Given the description of an element on the screen output the (x, y) to click on. 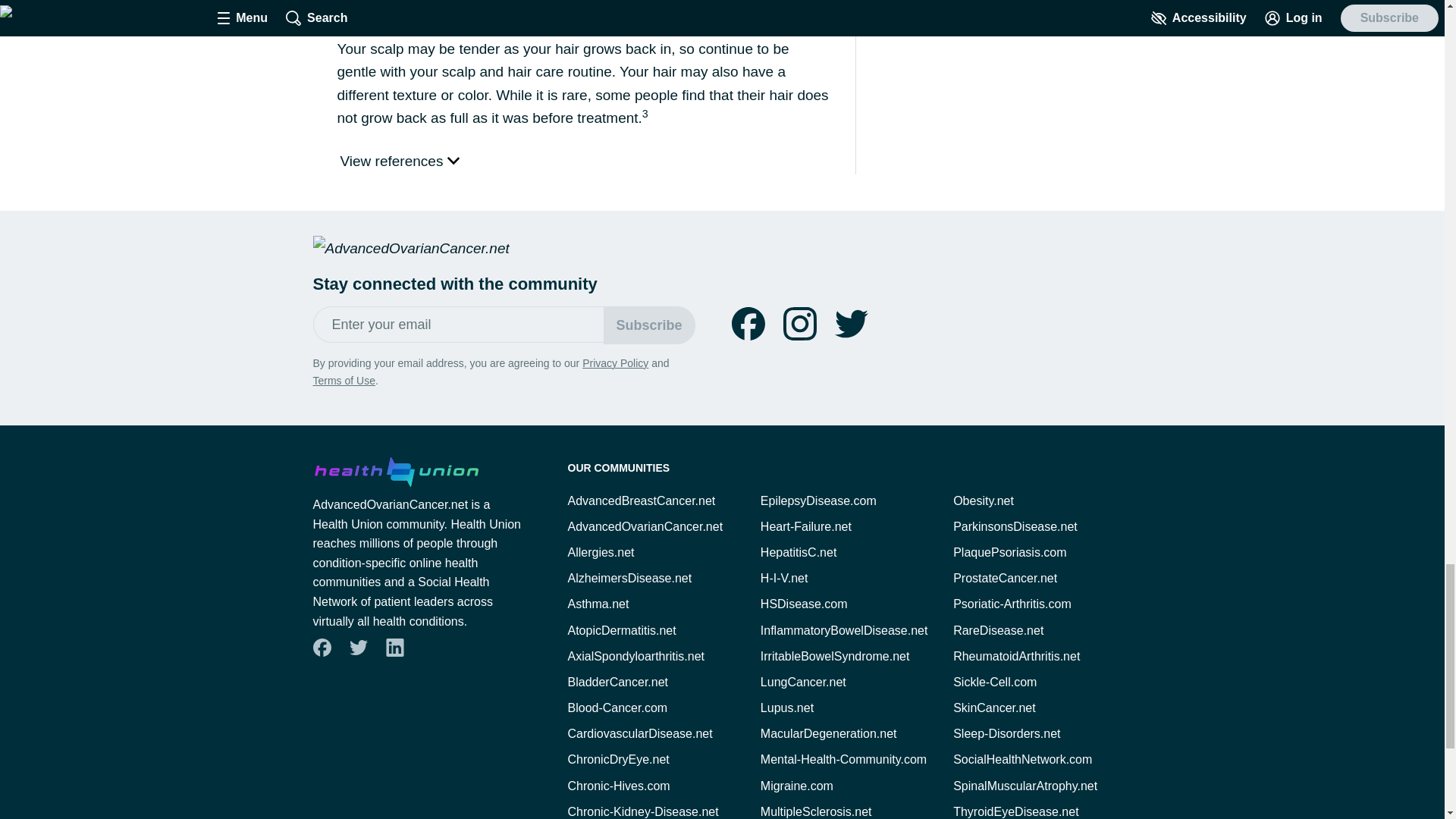
Follow us on facebook (747, 323)
Follow us on instagram (799, 323)
Follow us on linkedin (393, 647)
Follow us on facebook (320, 647)
Allergies.net (600, 552)
Follow us on twitter (850, 323)
AlzheimersDisease.net (629, 577)
Follow us on facebook (321, 647)
Follow us on twitter (357, 647)
Follow us on facebook (747, 323)
